Given the description of an element on the screen output the (x, y) to click on. 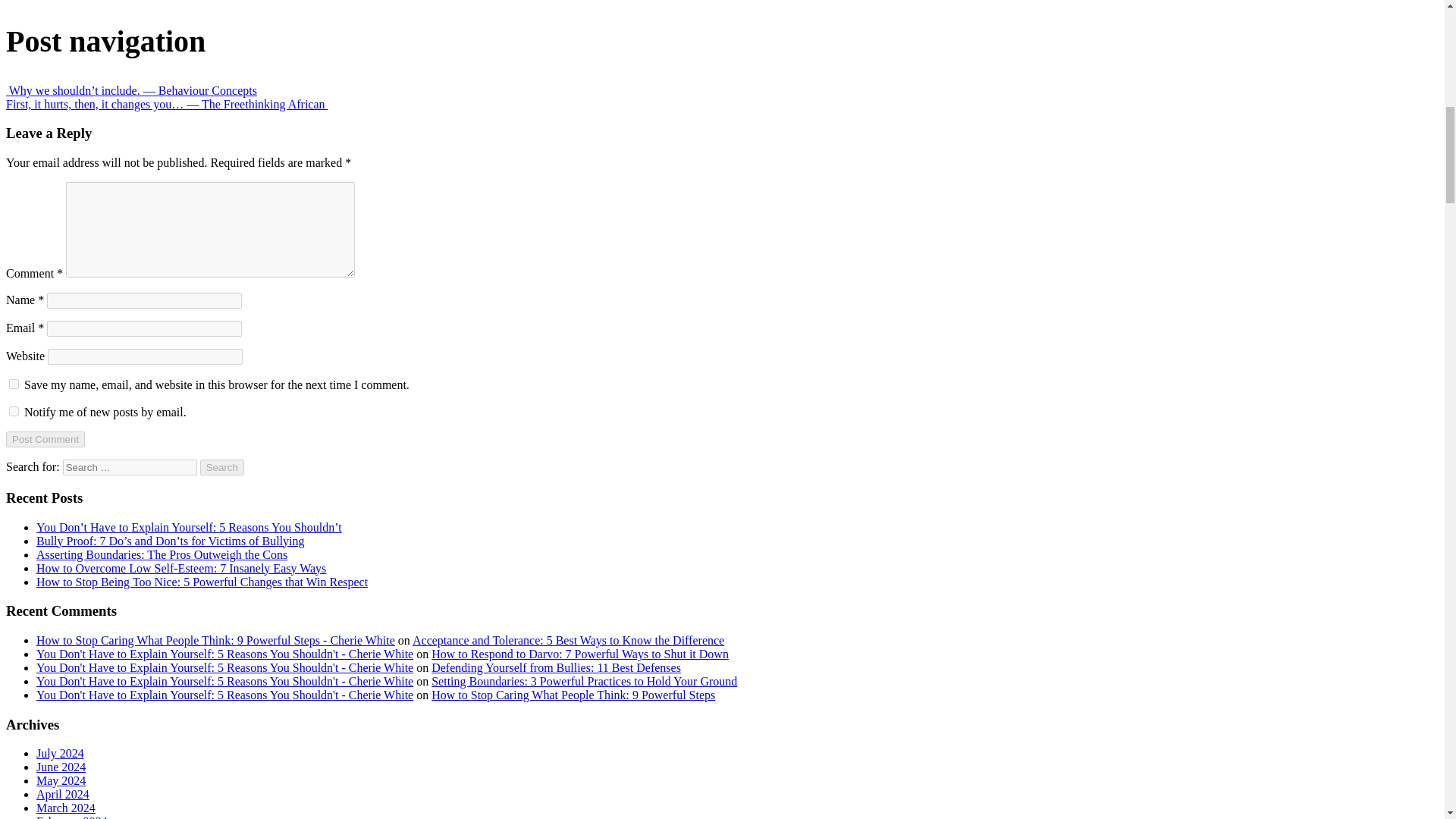
Post Comment (44, 439)
Search (222, 467)
yes (13, 384)
subscribe (13, 411)
Search (222, 467)
Search (222, 467)
Post Comment (44, 439)
